Given the description of an element on the screen output the (x, y) to click on. 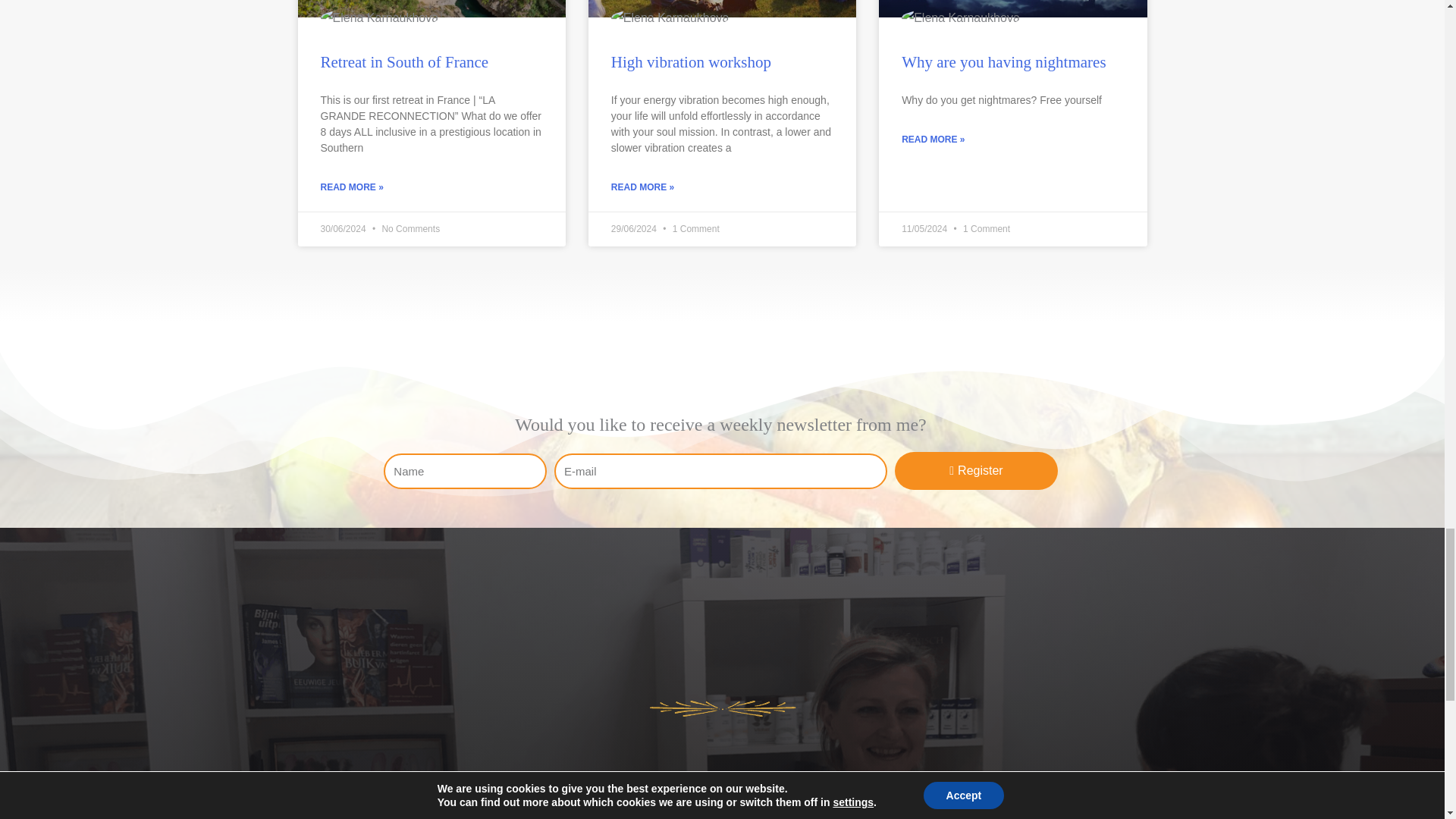
High vibration workshop (691, 62)
Retreat in South of France (403, 62)
Why are you having nightmares (1003, 62)
